Given the description of an element on the screen output the (x, y) to click on. 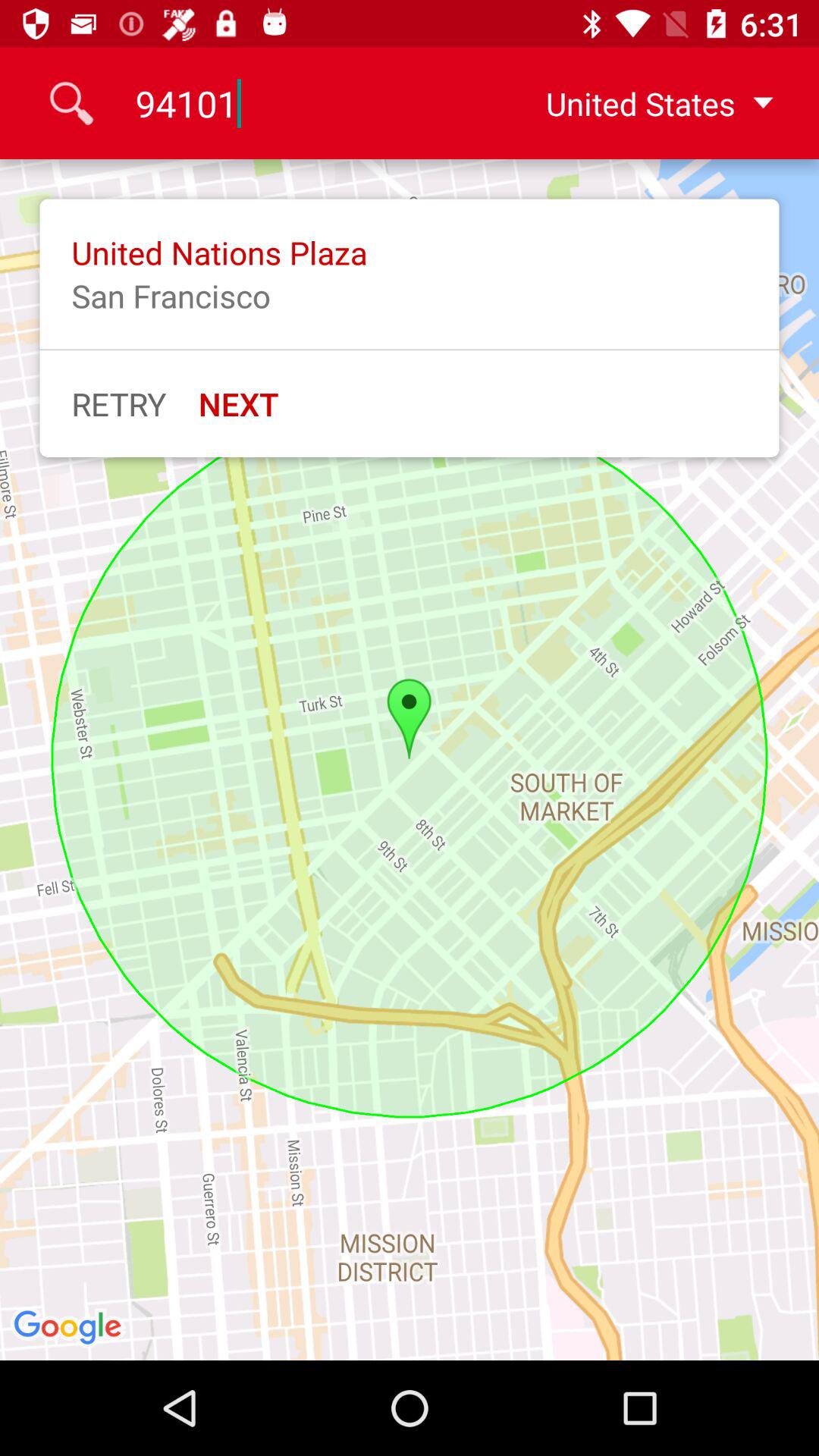
turn off item next to next item (118, 403)
